Given the description of an element on the screen output the (x, y) to click on. 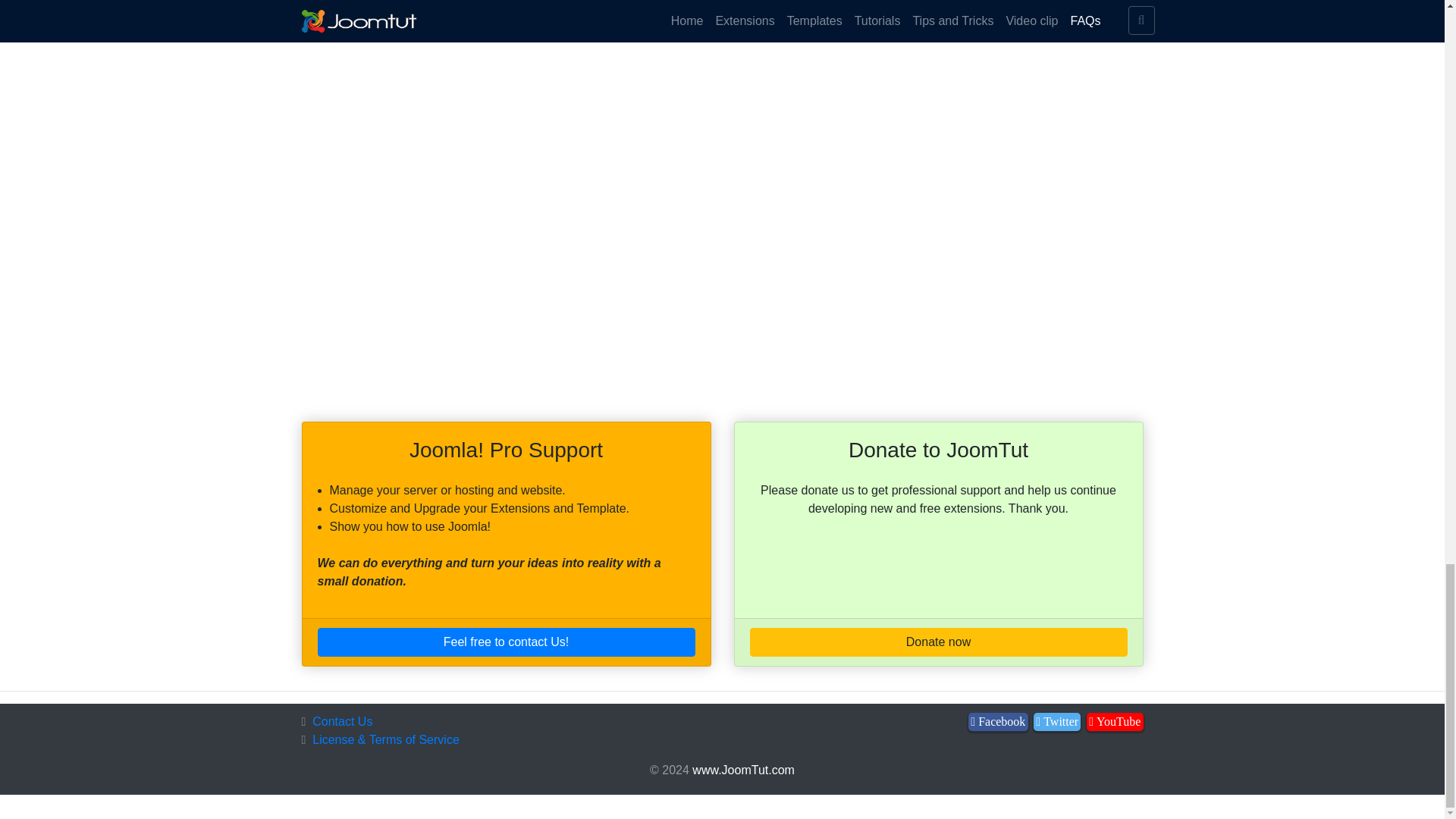
Donate now (937, 642)
Twitter (1056, 721)
YouTube (1114, 721)
Contact Us (342, 721)
Facebook (997, 721)
Feel free to contact Us! (505, 642)
